Given the description of an element on the screen output the (x, y) to click on. 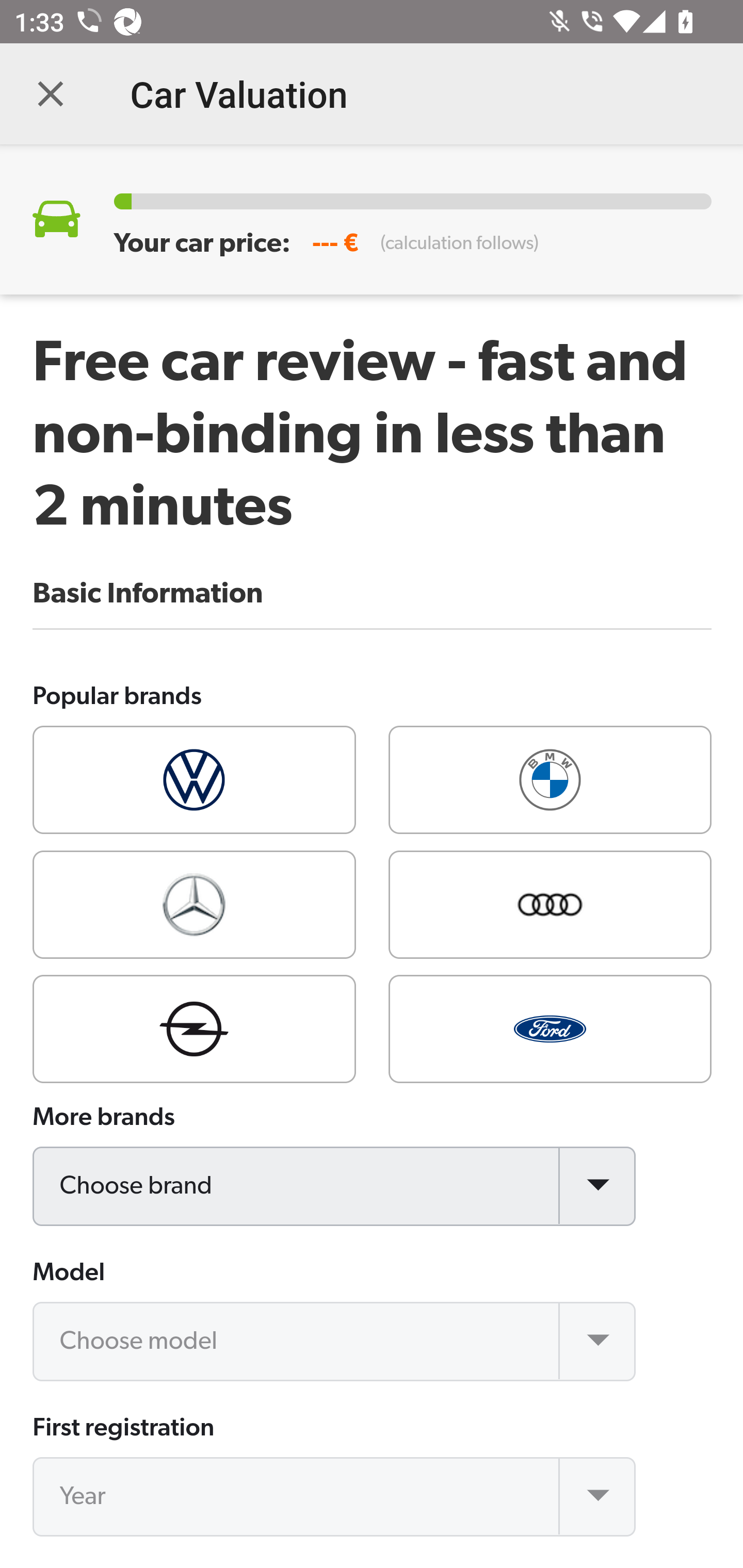
Navigate up (50, 93)
Choose brand (334, 1185)
Choose model (334, 1340)
Year (334, 1496)
Month (334, 1567)
